Given the description of an element on the screen output the (x, y) to click on. 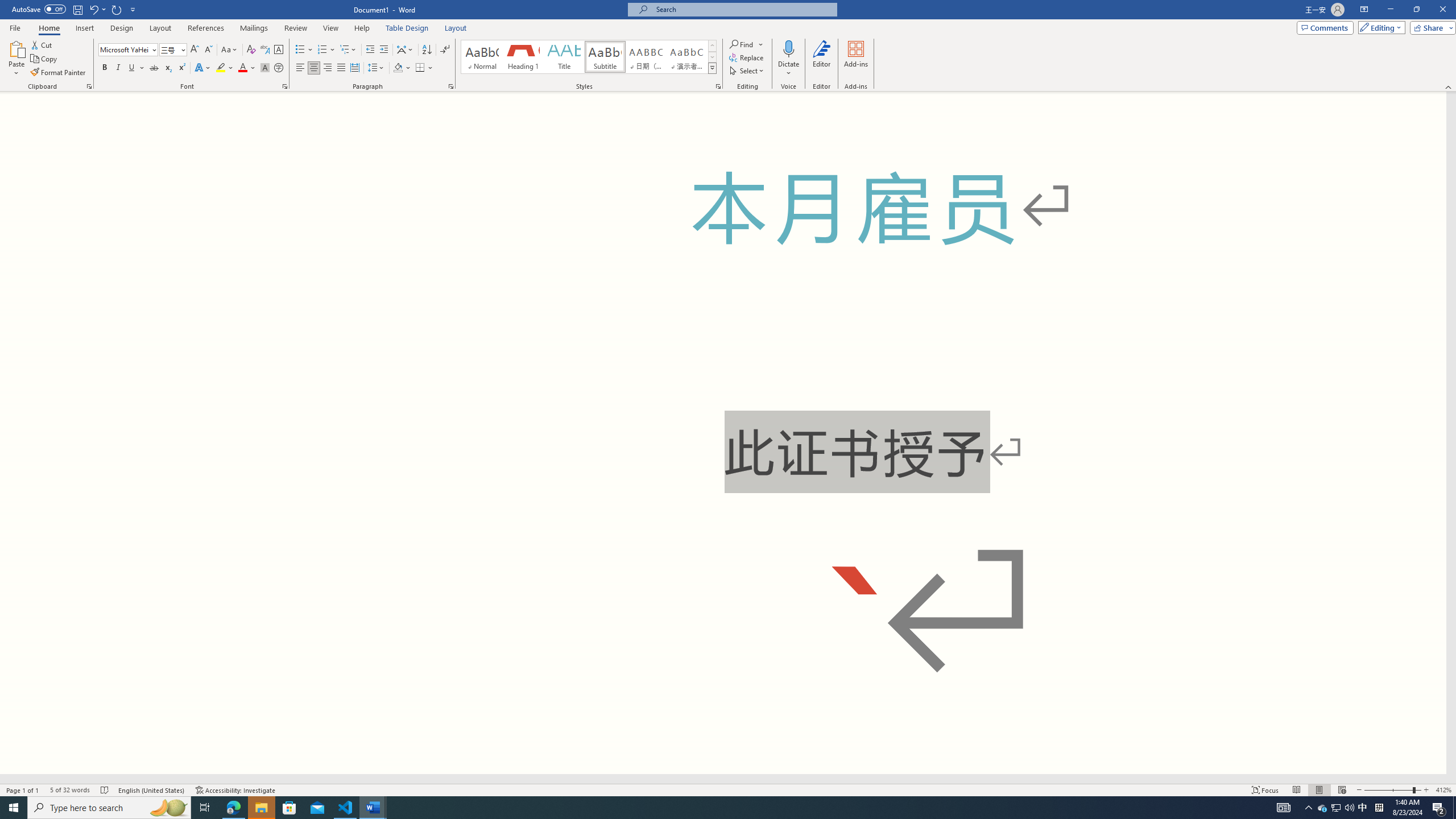
Home (48, 28)
Replace... (747, 56)
Row up (711, 45)
Grow Font (193, 49)
Collapse the Ribbon (1448, 86)
Mailings (253, 28)
Subscript (167, 67)
Row Down (711, 56)
Borders (419, 67)
Share (1430, 27)
Restore Down (1416, 9)
Center (313, 67)
Editor (821, 58)
System (6, 6)
